Given the description of an element on the screen output the (x, y) to click on. 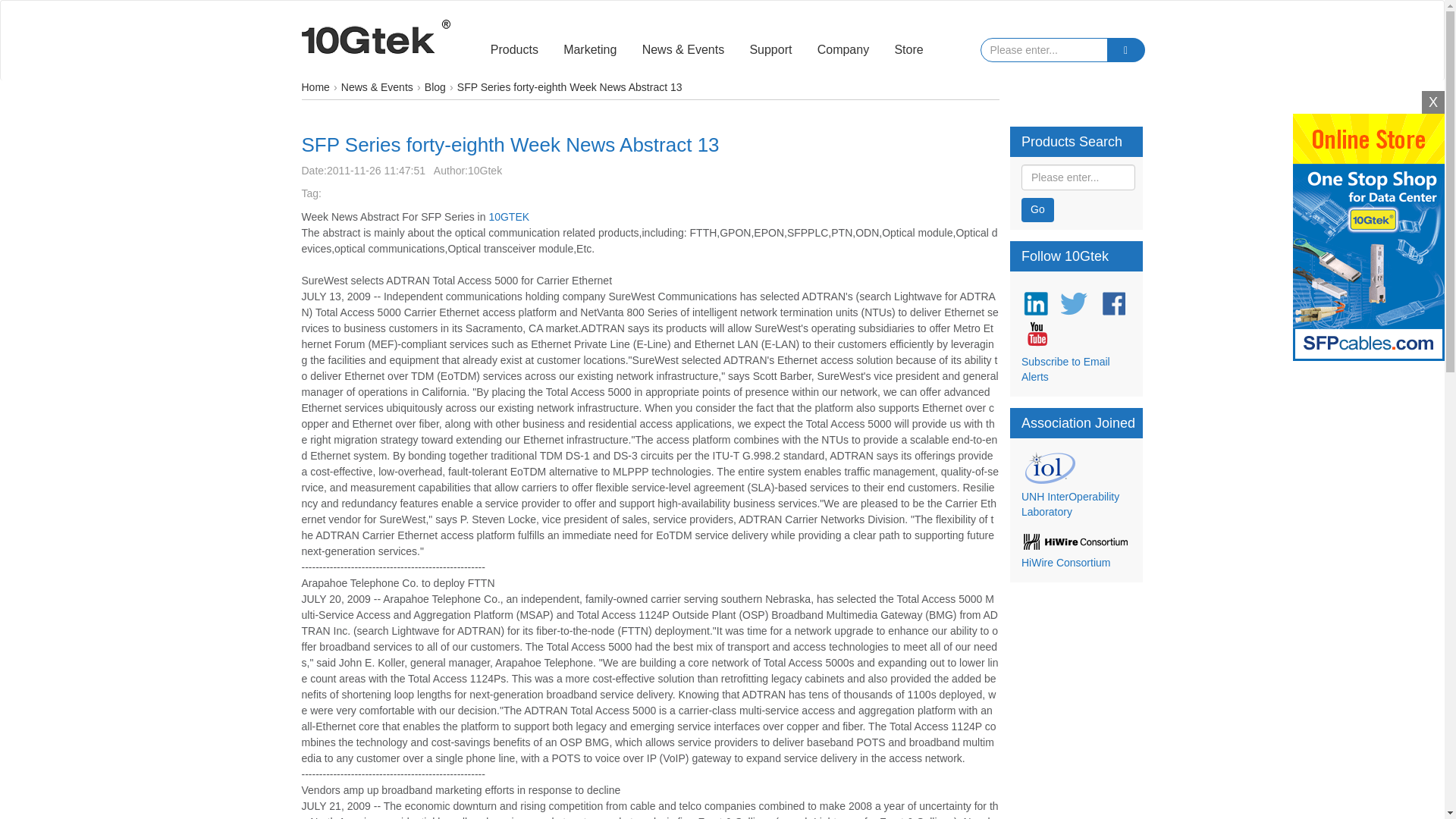
Marketing (589, 49)
Products (513, 49)
Blog (435, 87)
Store (907, 49)
Home (315, 87)
Support (769, 49)
Company (842, 49)
Products (513, 49)
10GTEK (508, 216)
